Given the description of an element on the screen output the (x, y) to click on. 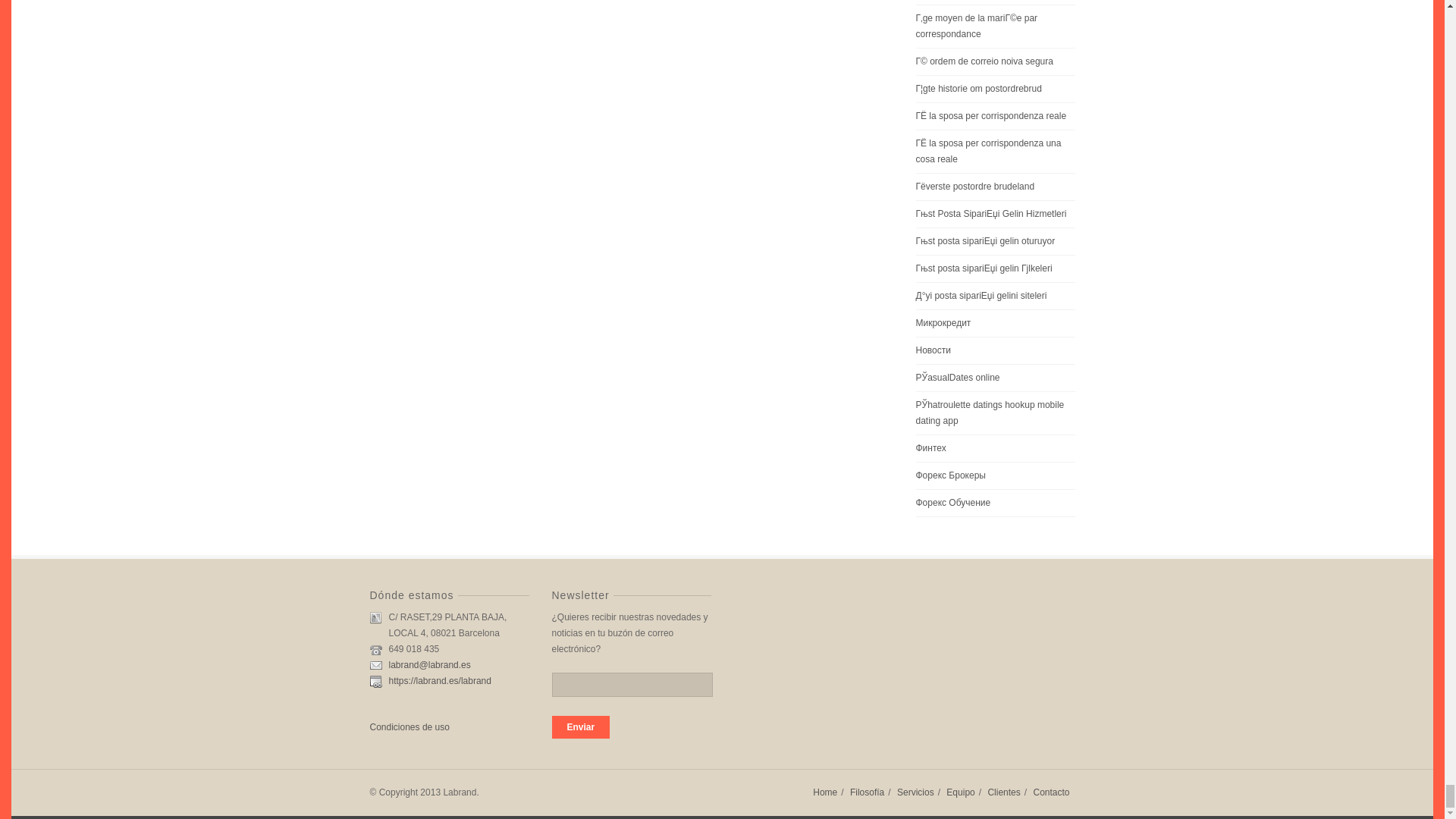
Enviar (580, 726)
